Given the description of an element on the screen output the (x, y) to click on. 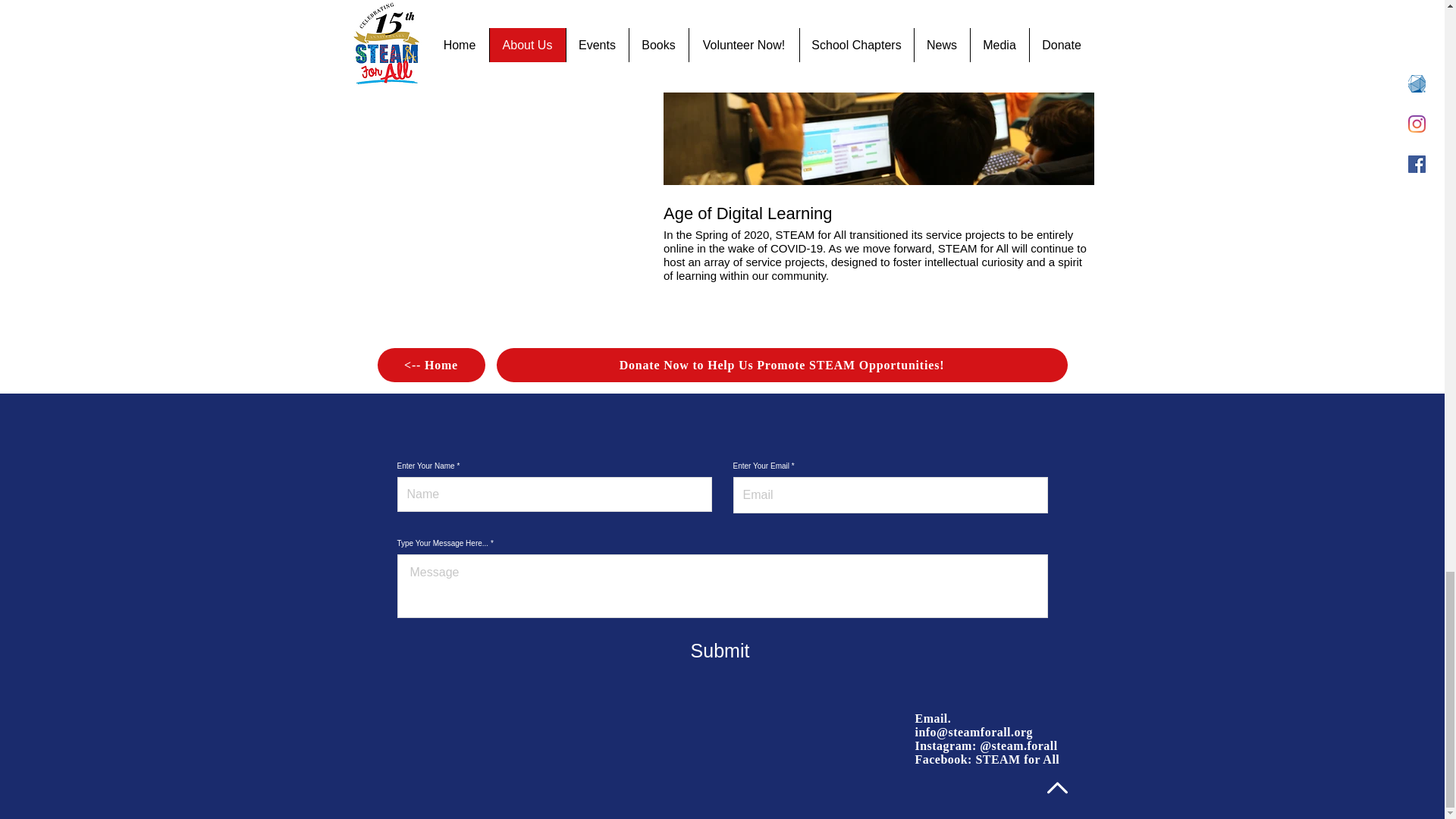
Donate Now to Help Us Promote STEAM Opportunities! (781, 365)
Submit (719, 651)
